Given the description of an element on the screen output the (x, y) to click on. 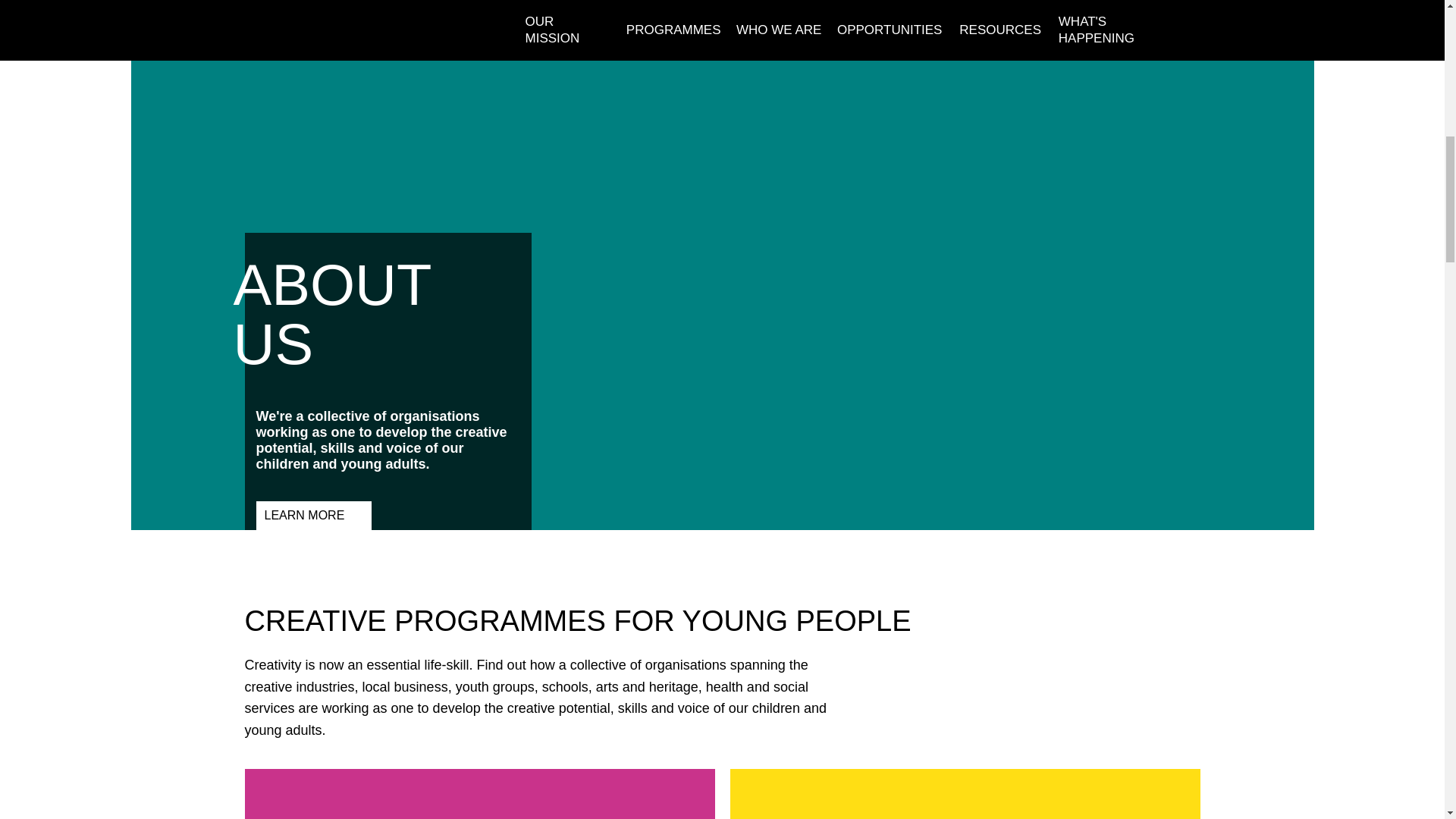
LEARN MORE (314, 515)
